Given the description of an element on the screen output the (x, y) to click on. 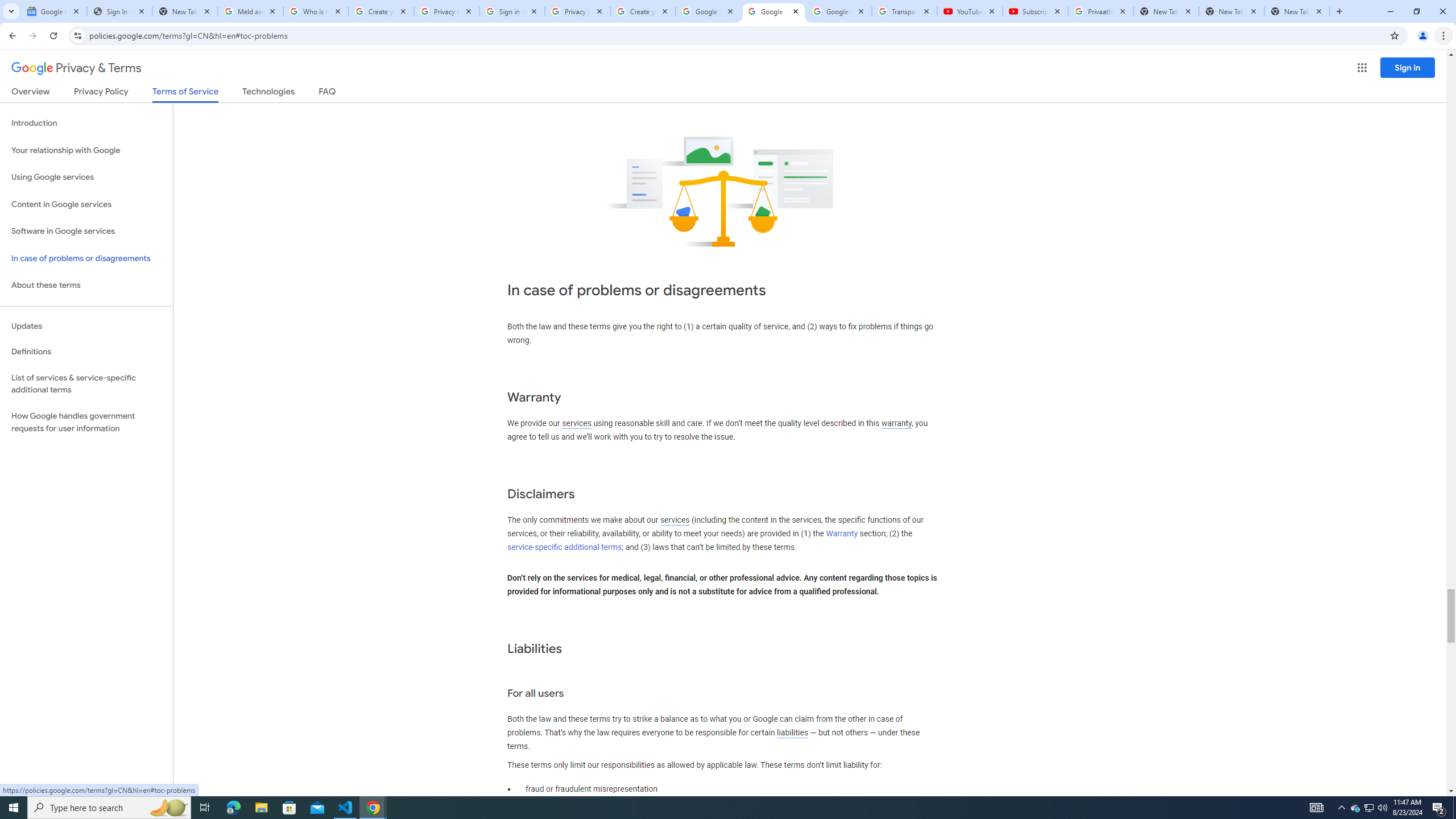
Create your Google Account (643, 11)
Technologies (268, 93)
Warranty (841, 533)
Google Account (838, 11)
Content in Google services (86, 204)
YouTube (969, 11)
